Given the description of an element on the screen output the (x, y) to click on. 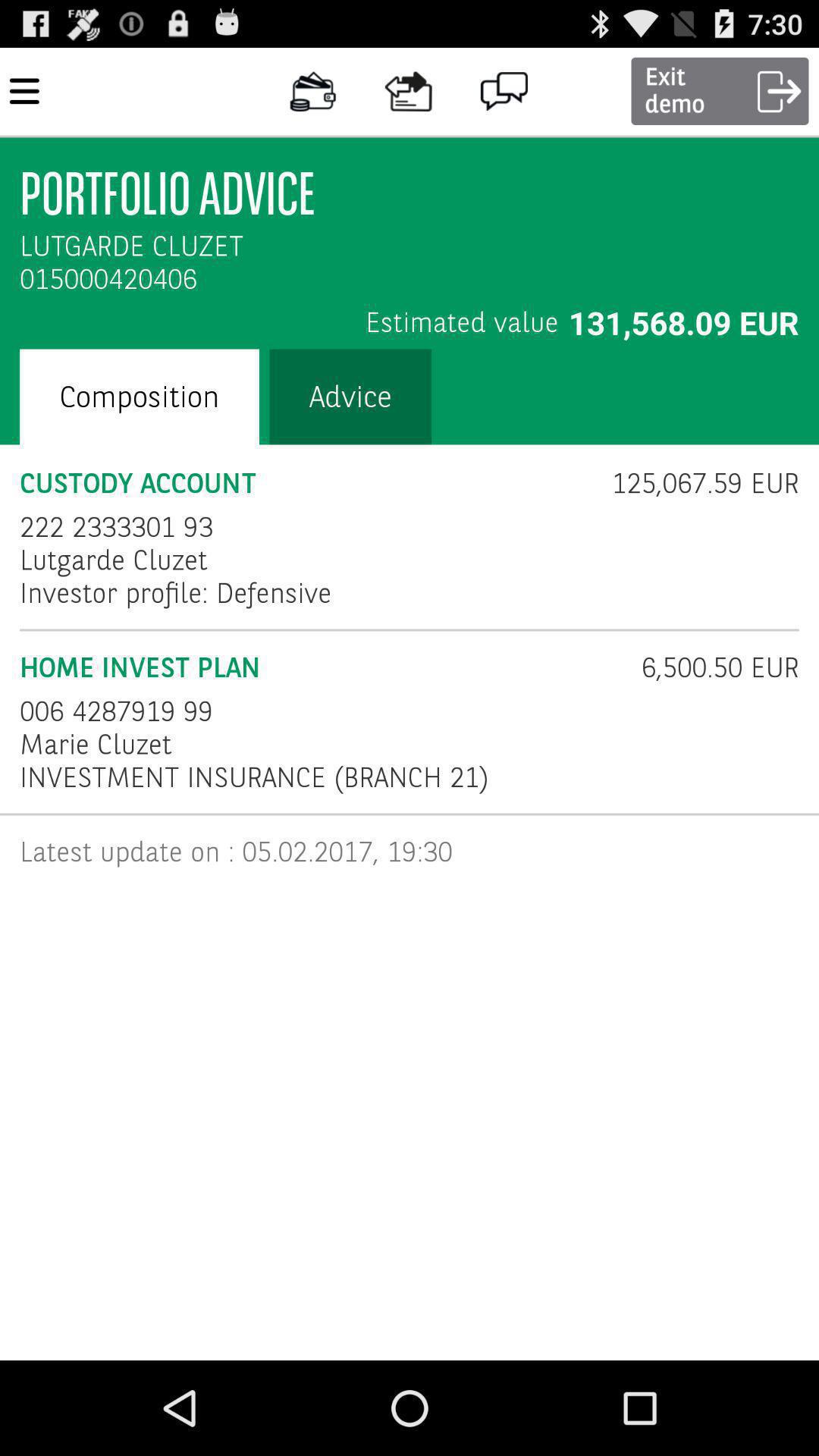
turn on icon to the left of 125 067 59 icon (305, 483)
